Given the description of an element on the screen output the (x, y) to click on. 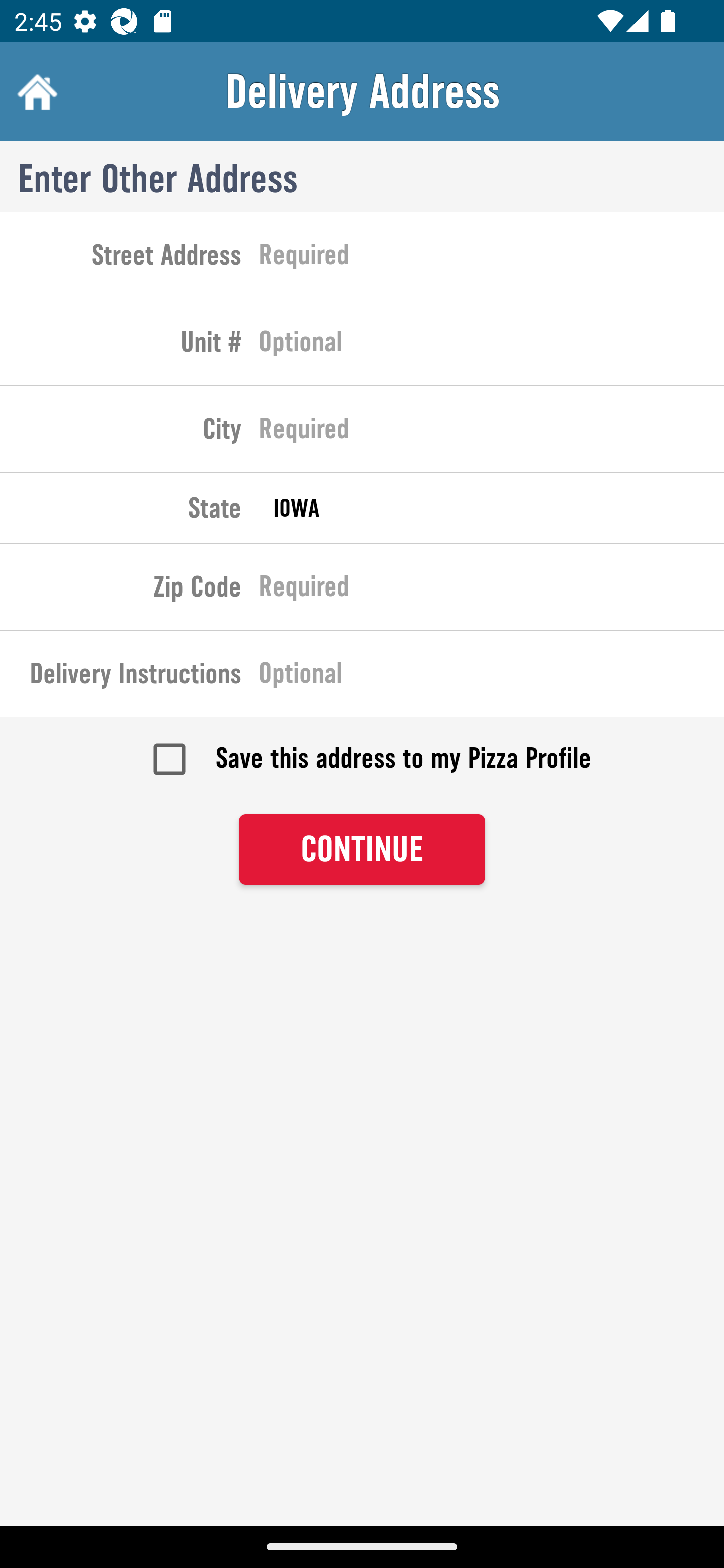
Home (35, 91)
Required (491, 258)
Optional (491, 345)
Required (491, 432)
IOWA (491, 507)
Required (491, 590)
Optional (491, 677)
CONTINUE (361, 848)
